Given the description of an element on the screen output the (x, y) to click on. 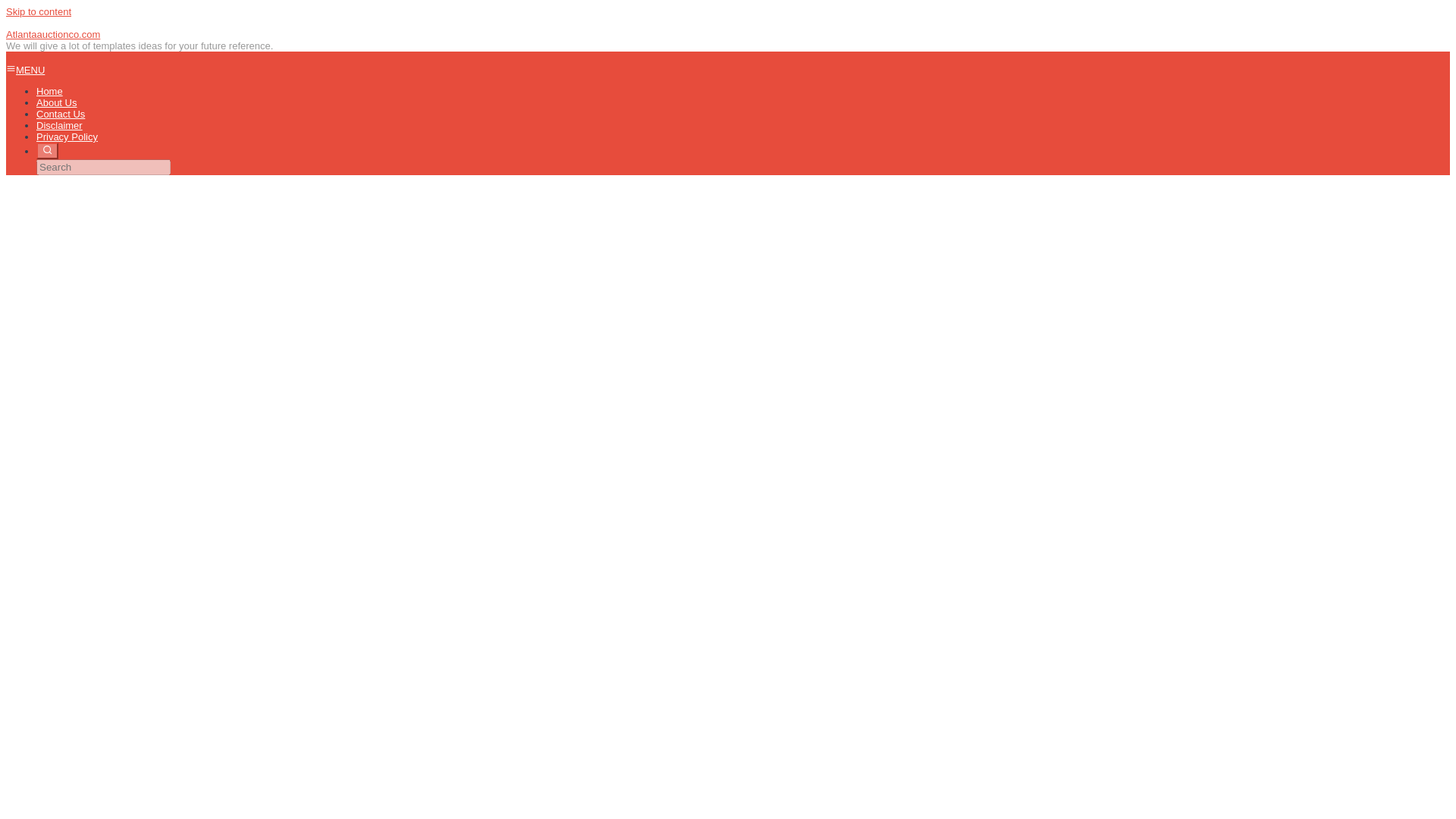
Home (49, 91)
Search (47, 150)
Atlantaauctionco.com (52, 34)
Atlantaauctionco.com (52, 34)
Disclaimer (59, 125)
Contact Us (60, 113)
Privacy Policy (66, 136)
Skip to content (38, 11)
About Us (56, 102)
MENU (25, 70)
